Given the description of an element on the screen output the (x, y) to click on. 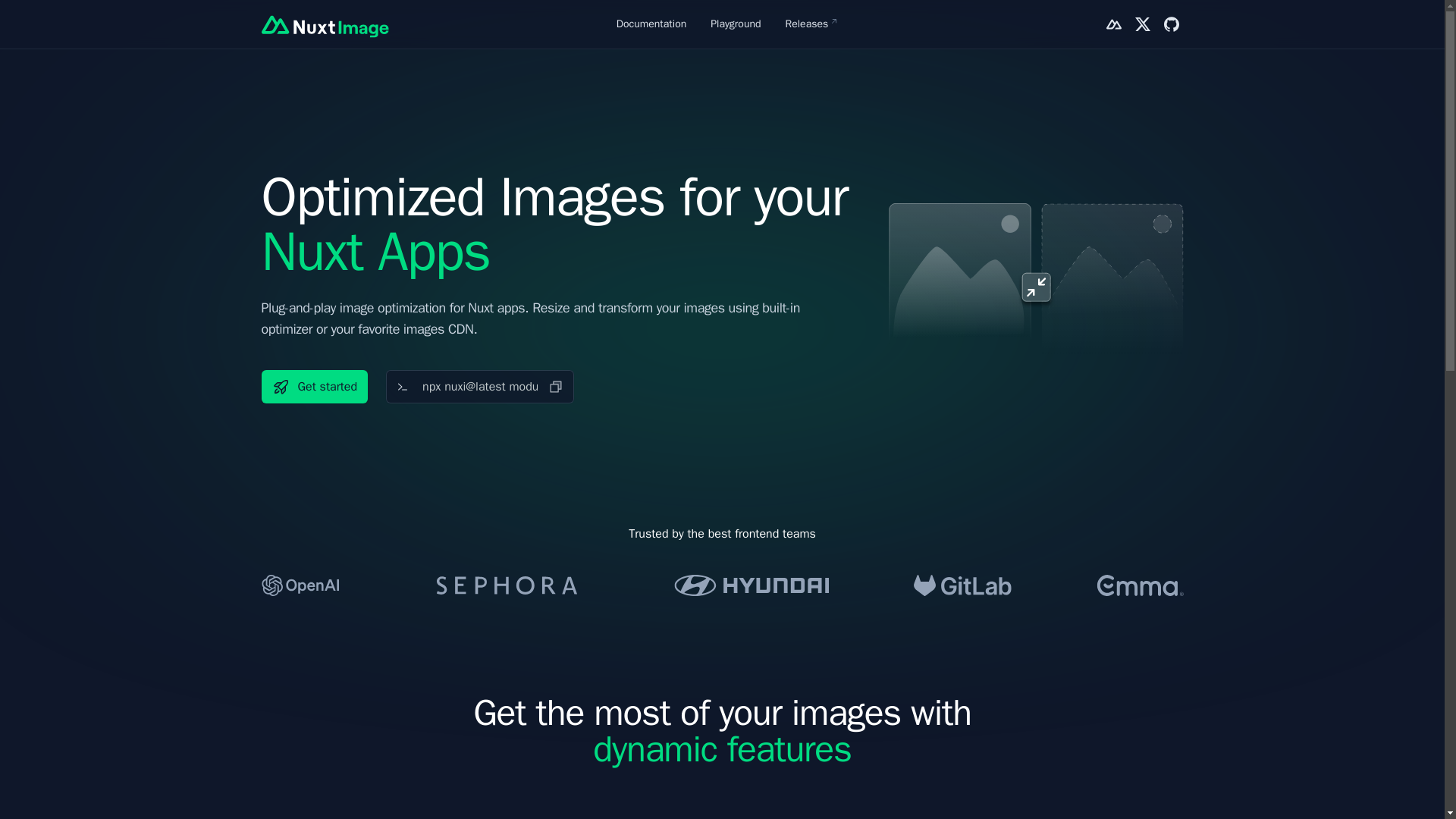
Playground (735, 24)
Get started (314, 386)
Documentation (651, 24)
Releases (807, 24)
